Given the description of an element on the screen output the (x, y) to click on. 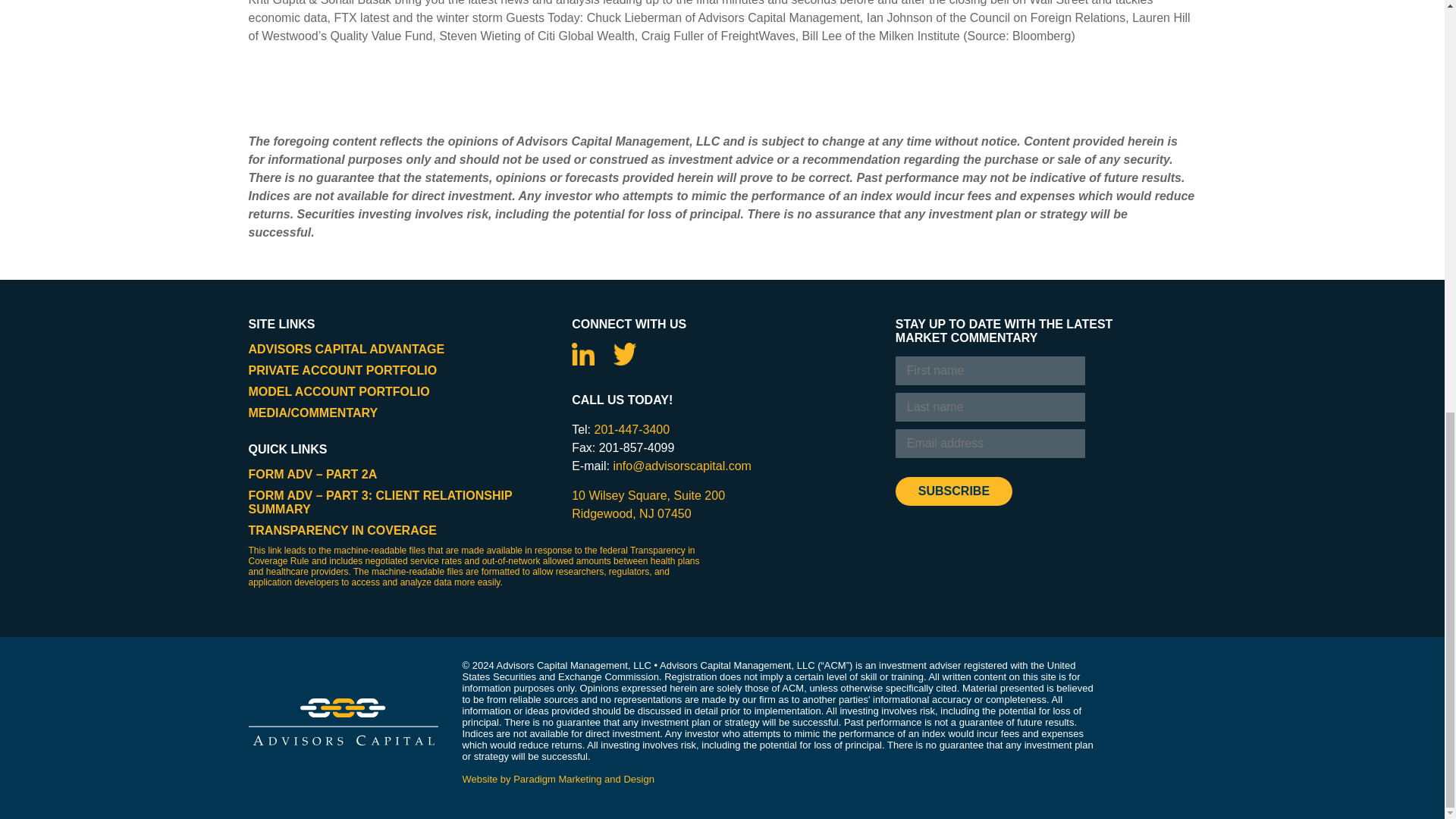
Subscribe (648, 504)
TRANSPARENCY IN COVERAGE (953, 491)
201-447-3400 (342, 530)
PRIVATE ACCOUNT PORTFOLIO (631, 429)
MODEL ACCOUNT PORTFOLIO (343, 369)
ADVISORS CAPITAL ADVANTAGE (338, 391)
Subscribe (346, 349)
Website by Paradigm Marketing and Design (953, 491)
